Given the description of an element on the screen output the (x, y) to click on. 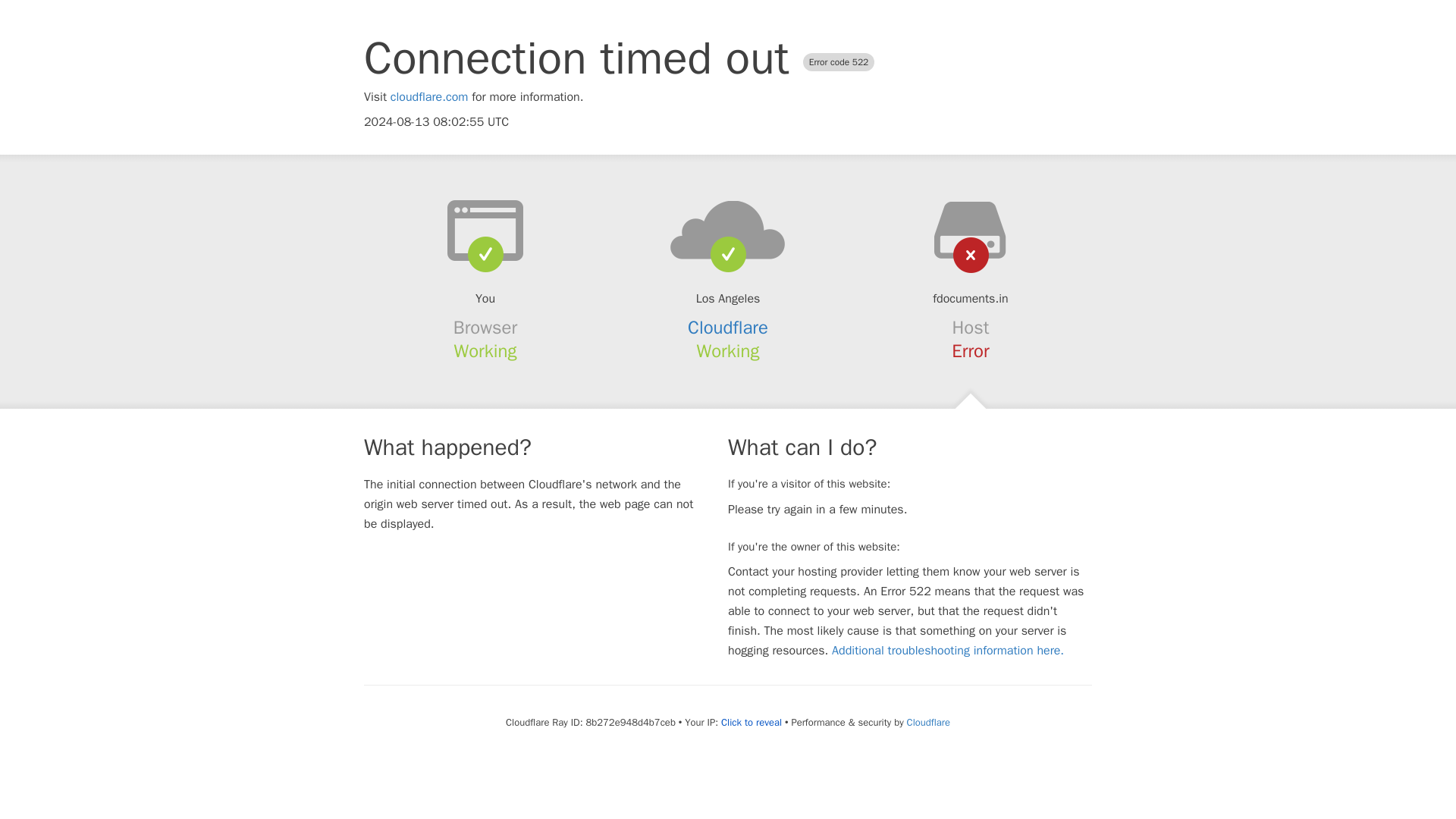
Additional troubleshooting information here. (947, 650)
Cloudflare (928, 721)
cloudflare.com (429, 96)
Click to reveal (750, 722)
Cloudflare (727, 327)
